Given the description of an element on the screen output the (x, y) to click on. 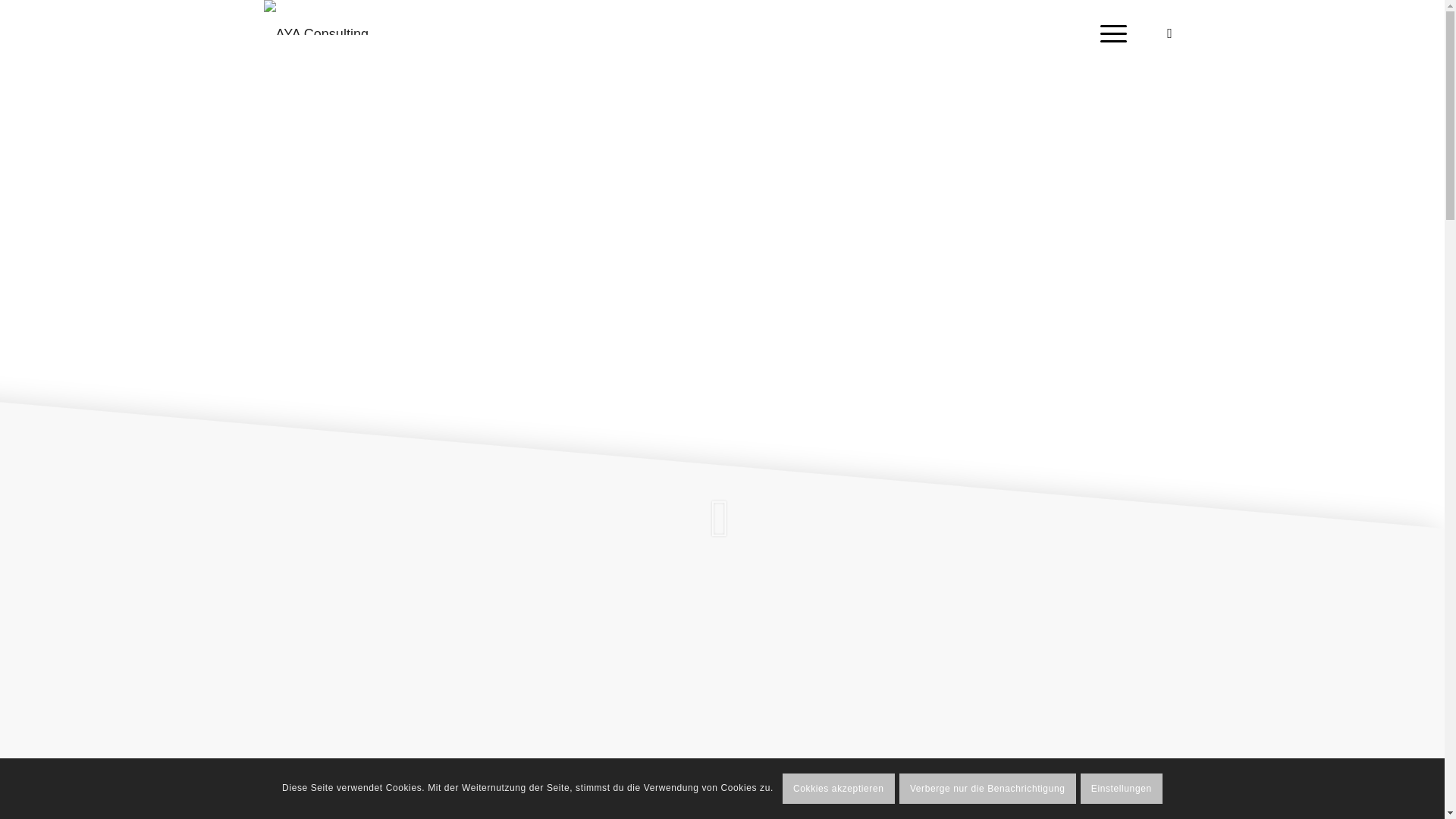
Verberge nur die Benachrichtigung Element type: text (987, 788)
Einstellungen Element type: text (1121, 788)
Instagram Element type: hover (1169, 32)
Cokkies akzeptieren Element type: text (838, 788)
